Given the description of an element on the screen output the (x, y) to click on. 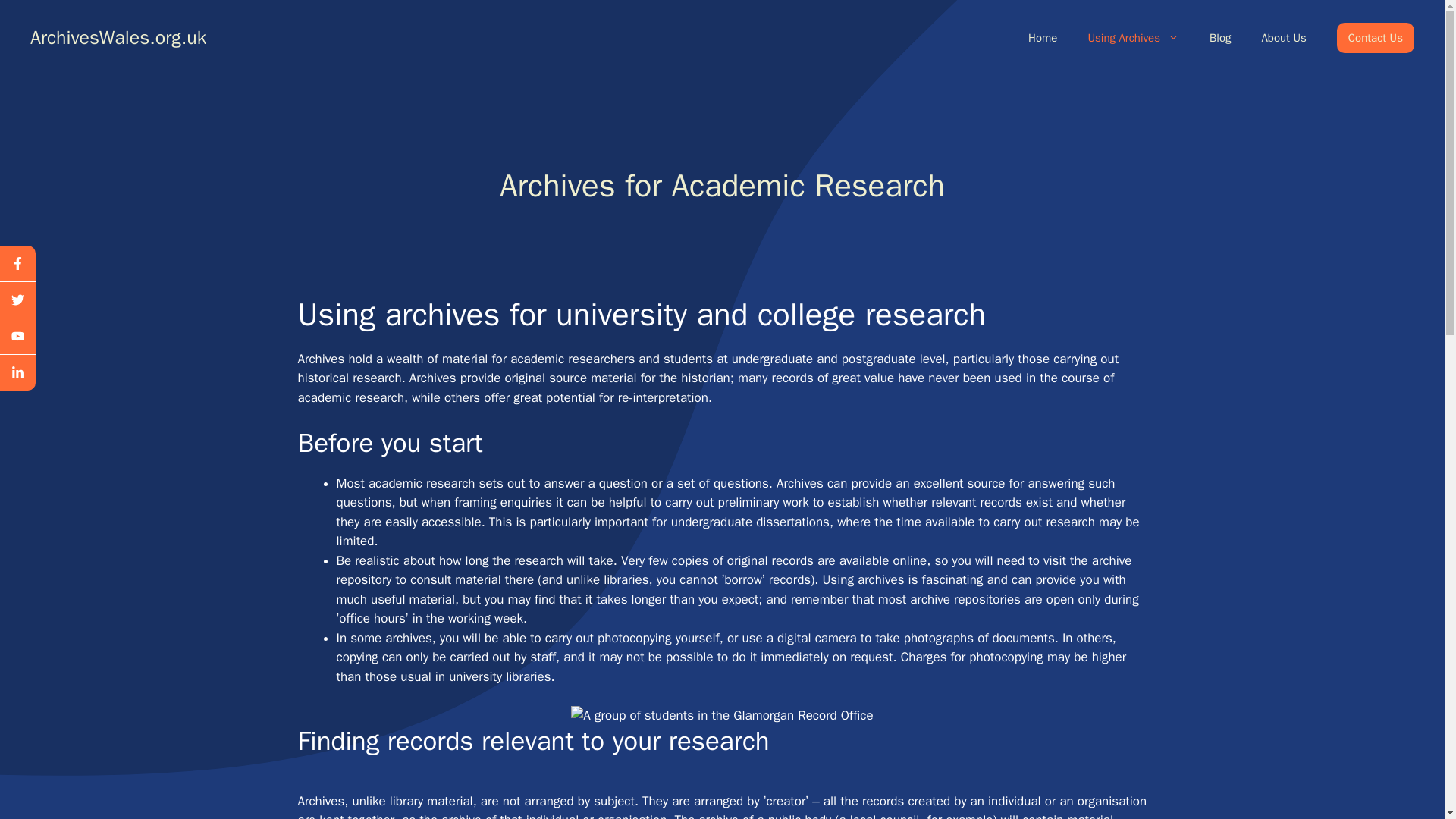
About Us (1283, 37)
Using Archives (1132, 37)
ArchivesWales.org.uk (118, 37)
Contact Us (1374, 38)
A group of students in the Glamorgan Record Office (721, 715)
Home (1042, 37)
Blog (1219, 37)
